Given the description of an element on the screen output the (x, y) to click on. 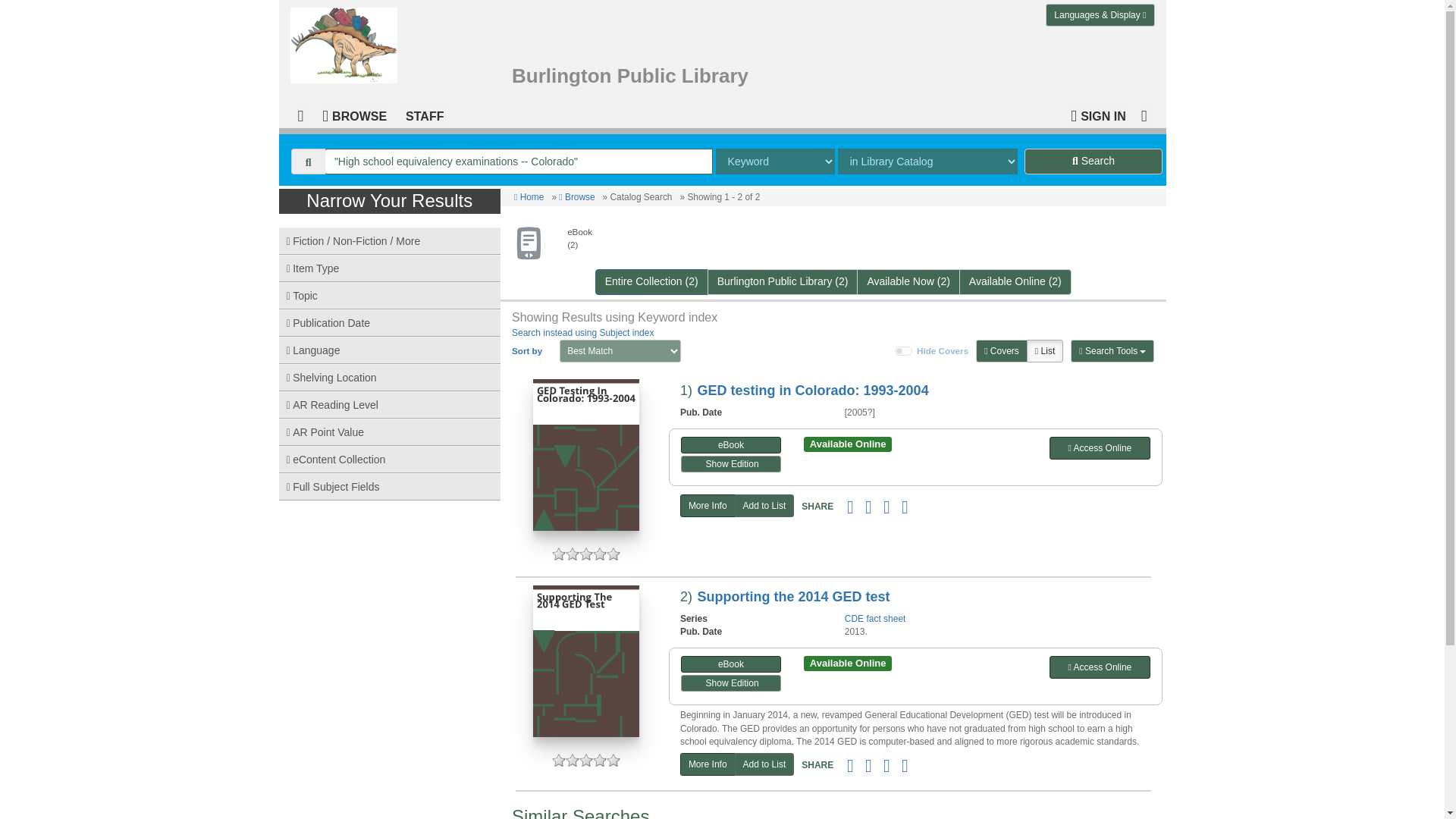
SIGN IN (1098, 113)
Browse (576, 196)
on (903, 350)
Search instead using Subject index (582, 332)
STAFF (421, 114)
Return to Catalog Home (346, 41)
Browse the Catalog (354, 113)
Login (1098, 113)
"High school equivalency examinations -- Colorado" (518, 161)
